Given the description of an element on the screen output the (x, y) to click on. 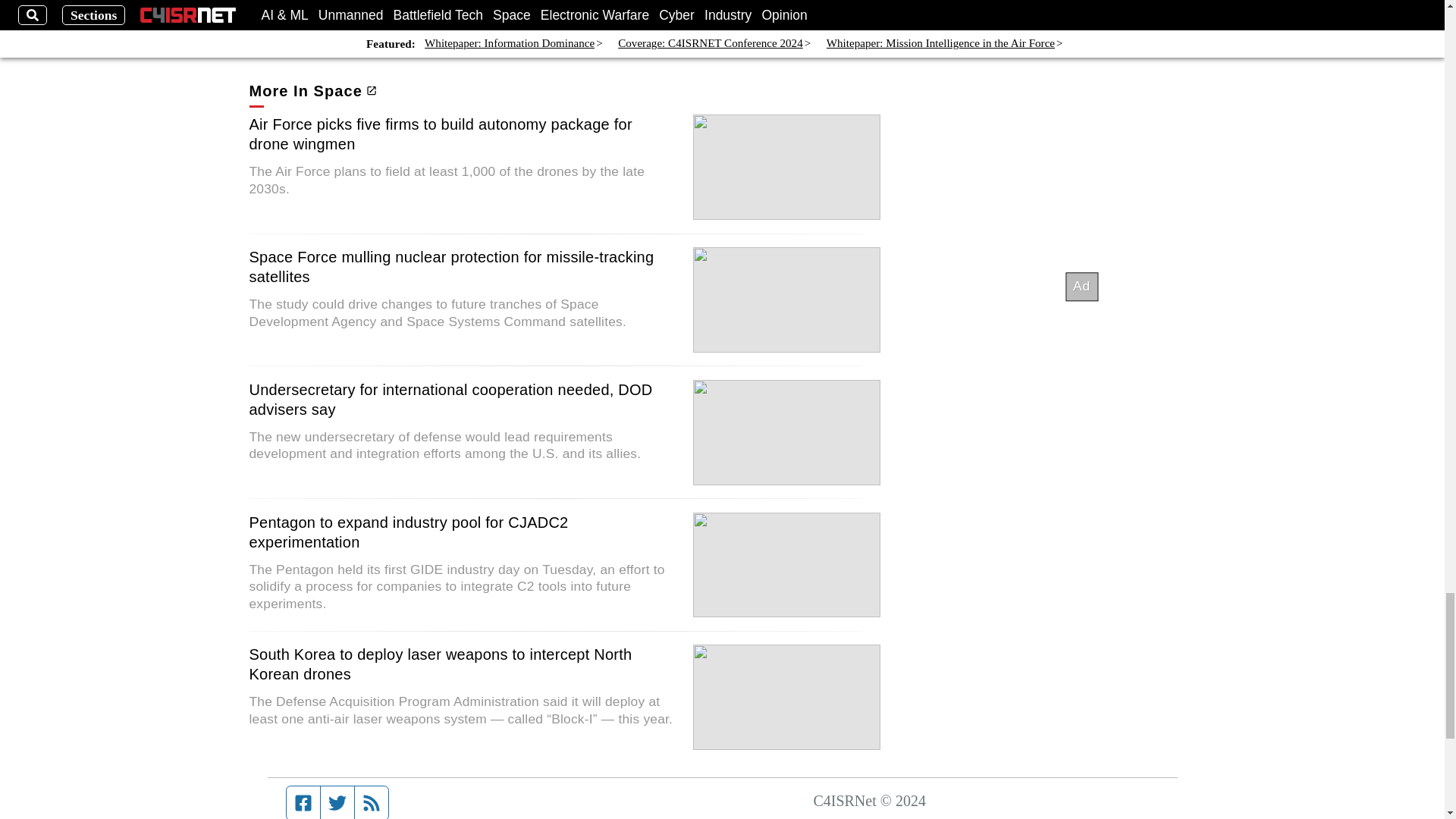
RSS feed (371, 802)
Twitter feed (336, 802)
Facebook page (303, 802)
